Given the description of an element on the screen output the (x, y) to click on. 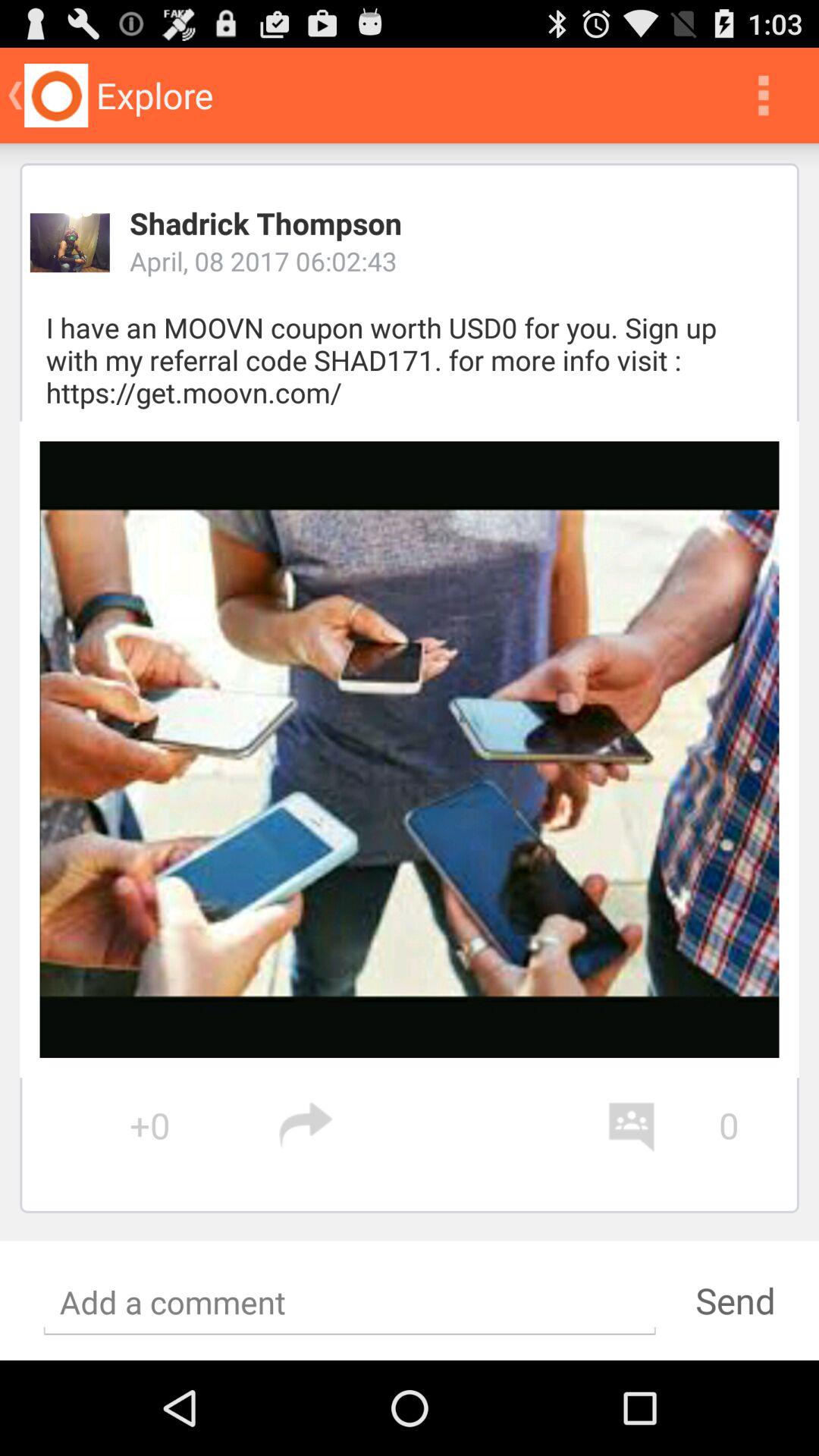
open the button above the +0 button (409, 749)
